Given the description of an element on the screen output the (x, y) to click on. 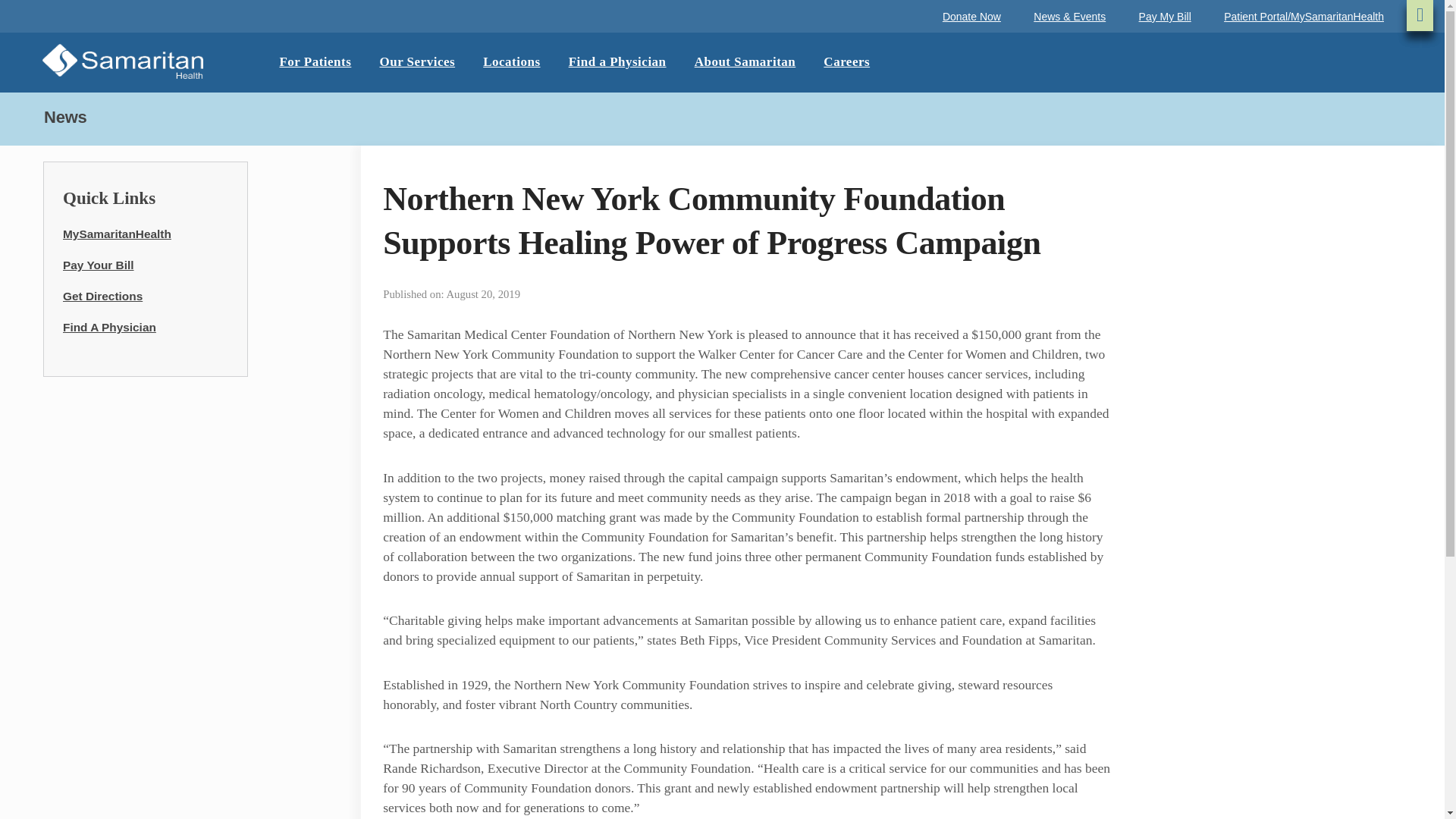
Our Services (416, 62)
For Patients (314, 62)
Pay My Bill (1164, 16)
Donate Now (971, 16)
